Given the description of an element on the screen output the (x, y) to click on. 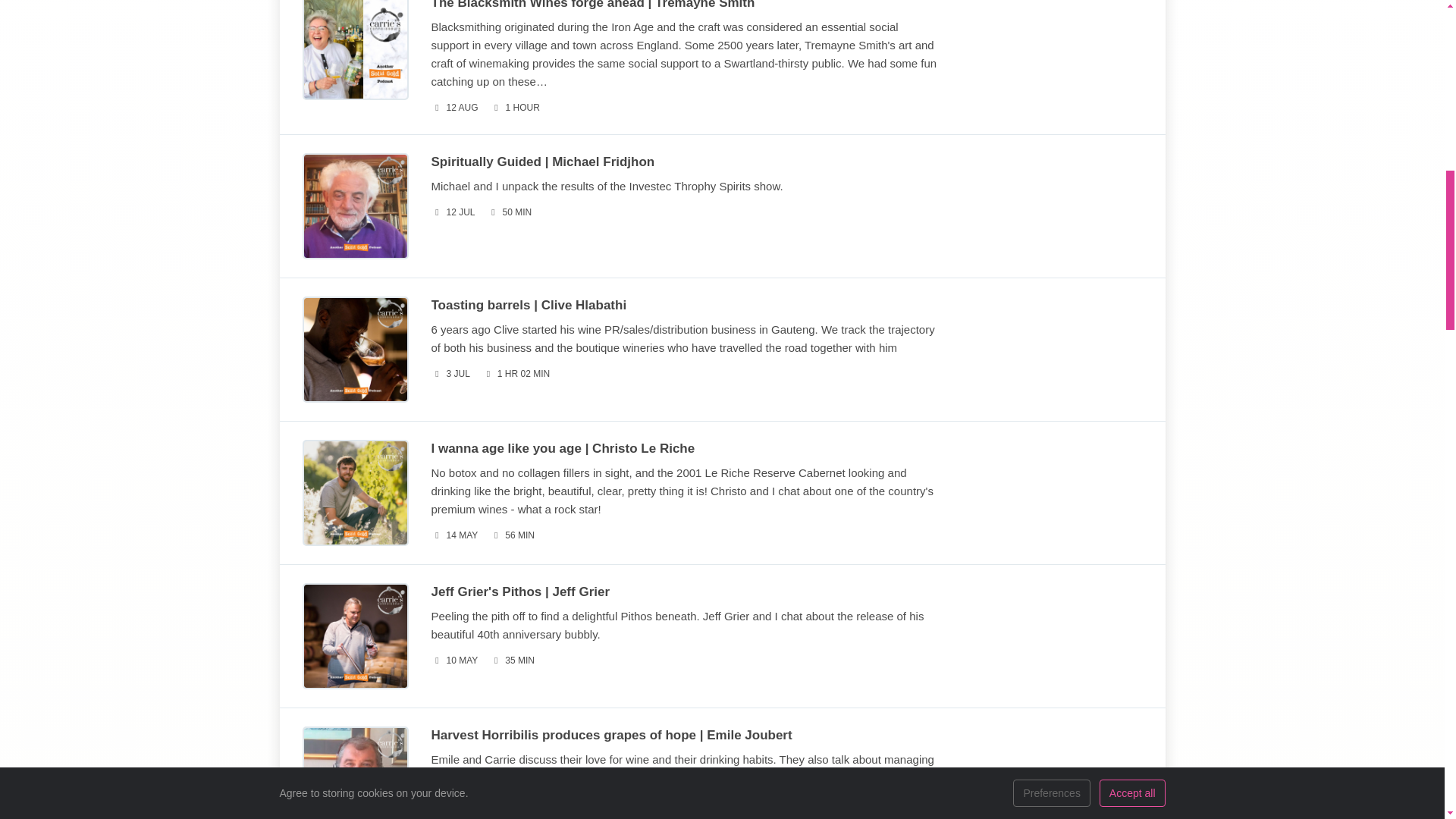
Duration (509, 212)
Duration (511, 535)
Duration (515, 107)
Published (453, 660)
Published (452, 212)
Published (454, 816)
Duration (515, 374)
Published (453, 535)
Duration (511, 660)
Published (453, 107)
